Given the description of an element on the screen output the (x, y) to click on. 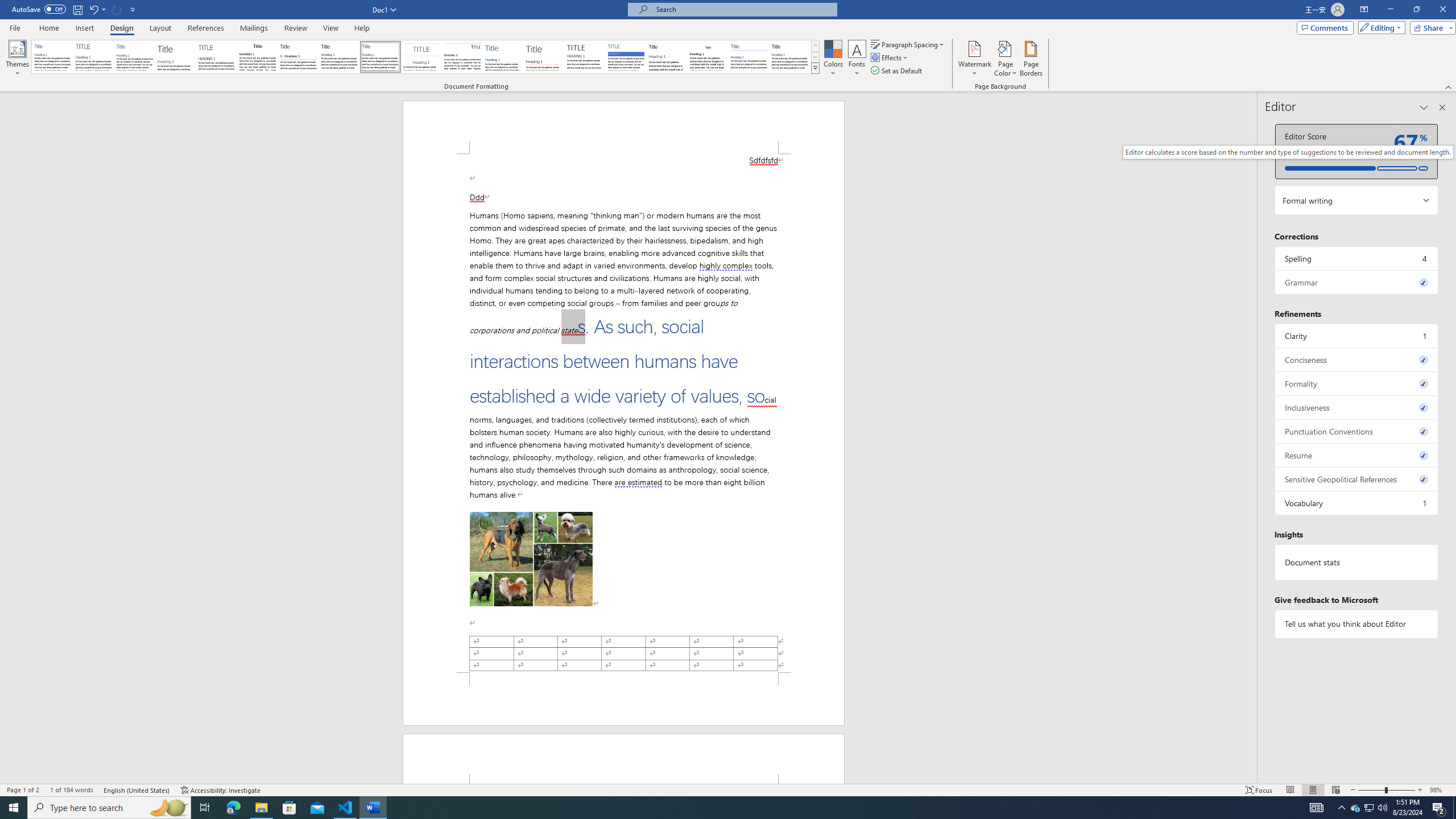
Paragraph Spacing (908, 44)
Centered (421, 56)
Fonts (856, 58)
Basic (Simple) (135, 56)
Basic (Elegant) (93, 56)
Undo Outline Move Up (92, 9)
Vocabulary, 1 issue. Press space or enter to review items. (1356, 502)
